Given the description of an element on the screen output the (x, y) to click on. 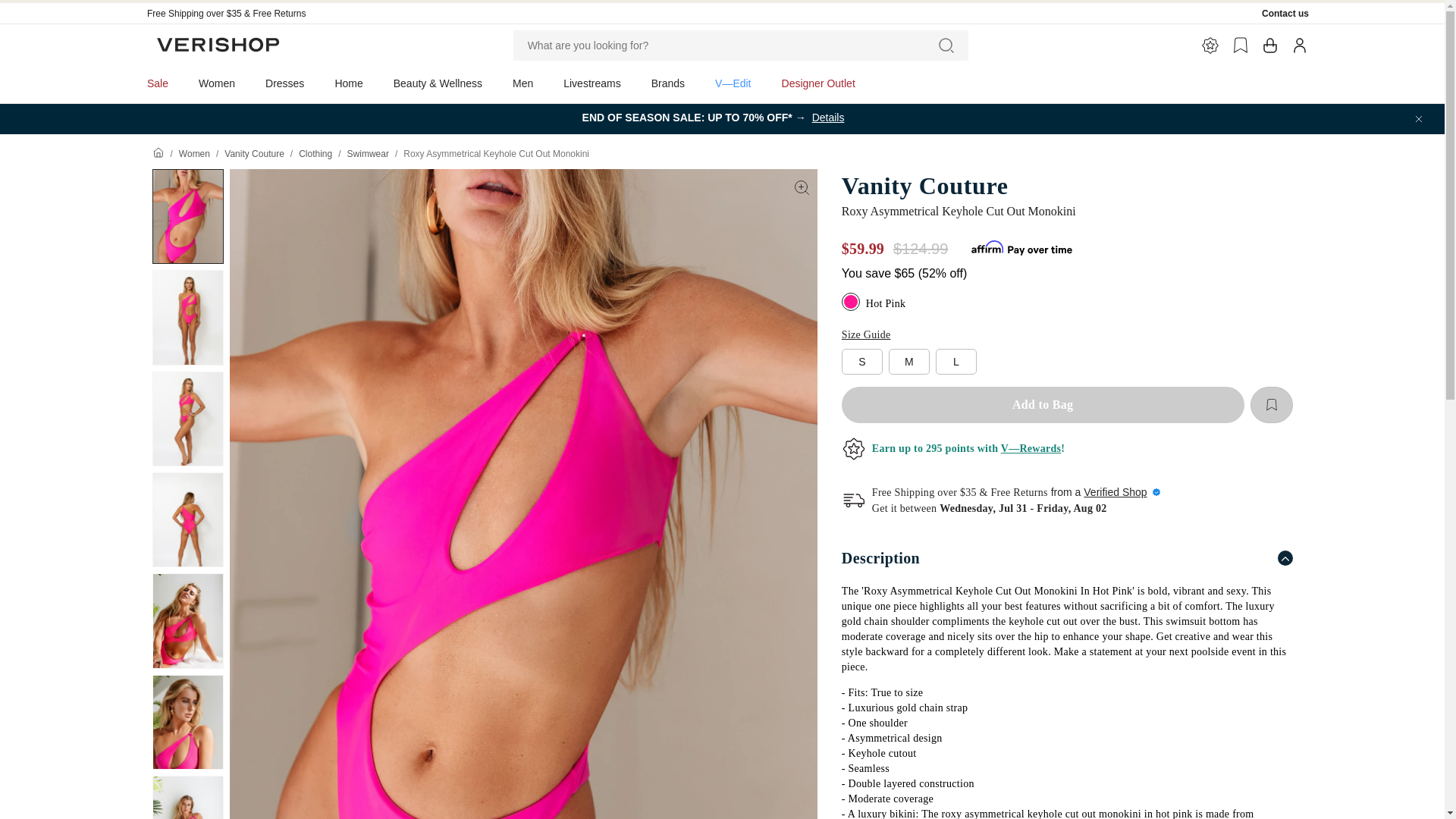
Dresses (284, 82)
Swimwear (367, 153)
Vanity Couture (253, 153)
Contact us (1285, 13)
S (861, 361)
Size Guide (866, 335)
L (956, 361)
Livestreams (591, 82)
Designer Outlet (818, 82)
Vanity Couture (1066, 185)
Clothing (314, 153)
M (909, 361)
Brands (668, 82)
skip to main content (53, 6)
Women (194, 153)
